Given the description of an element on the screen output the (x, y) to click on. 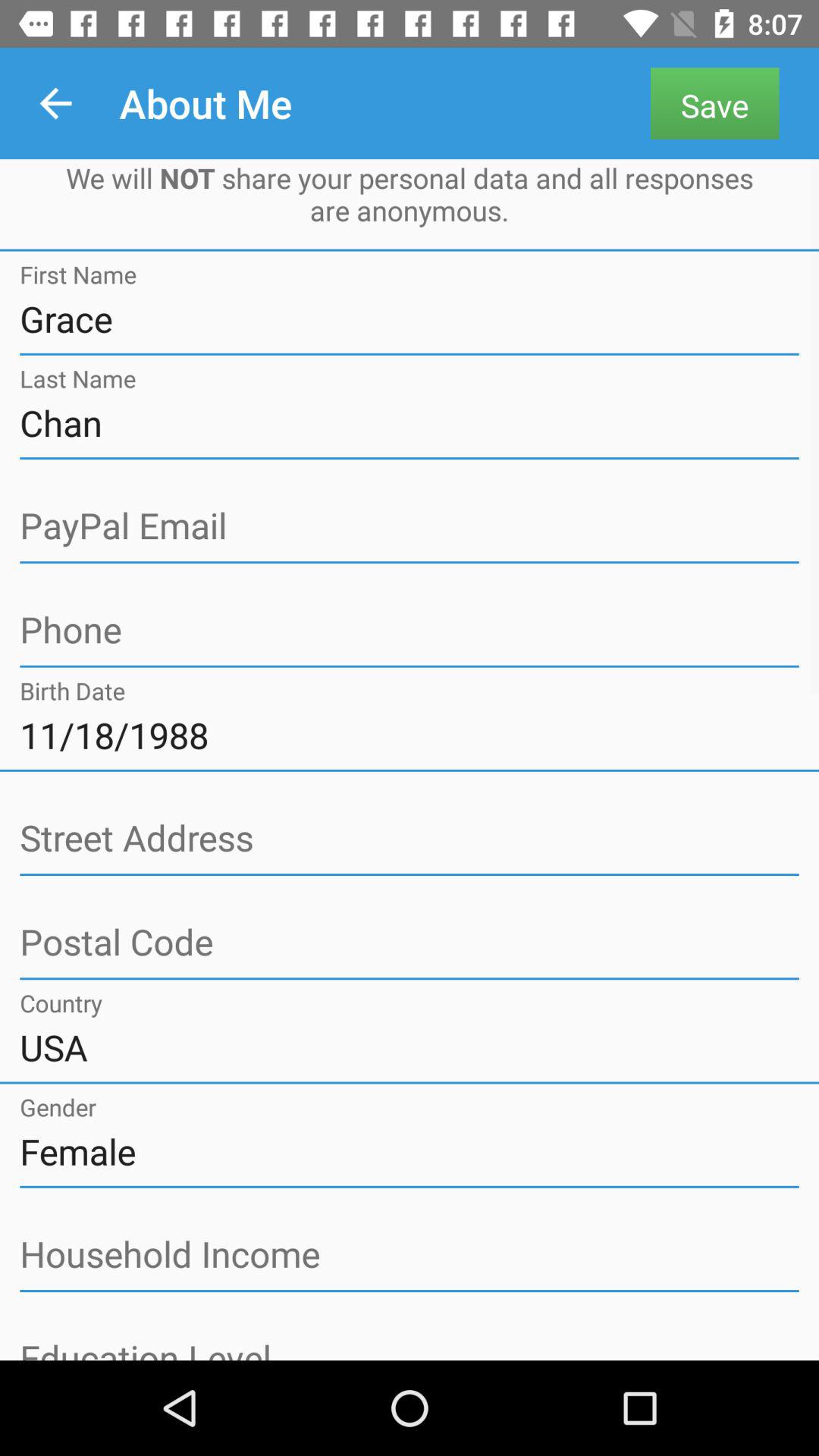
address page (409, 839)
